Given the description of an element on the screen output the (x, y) to click on. 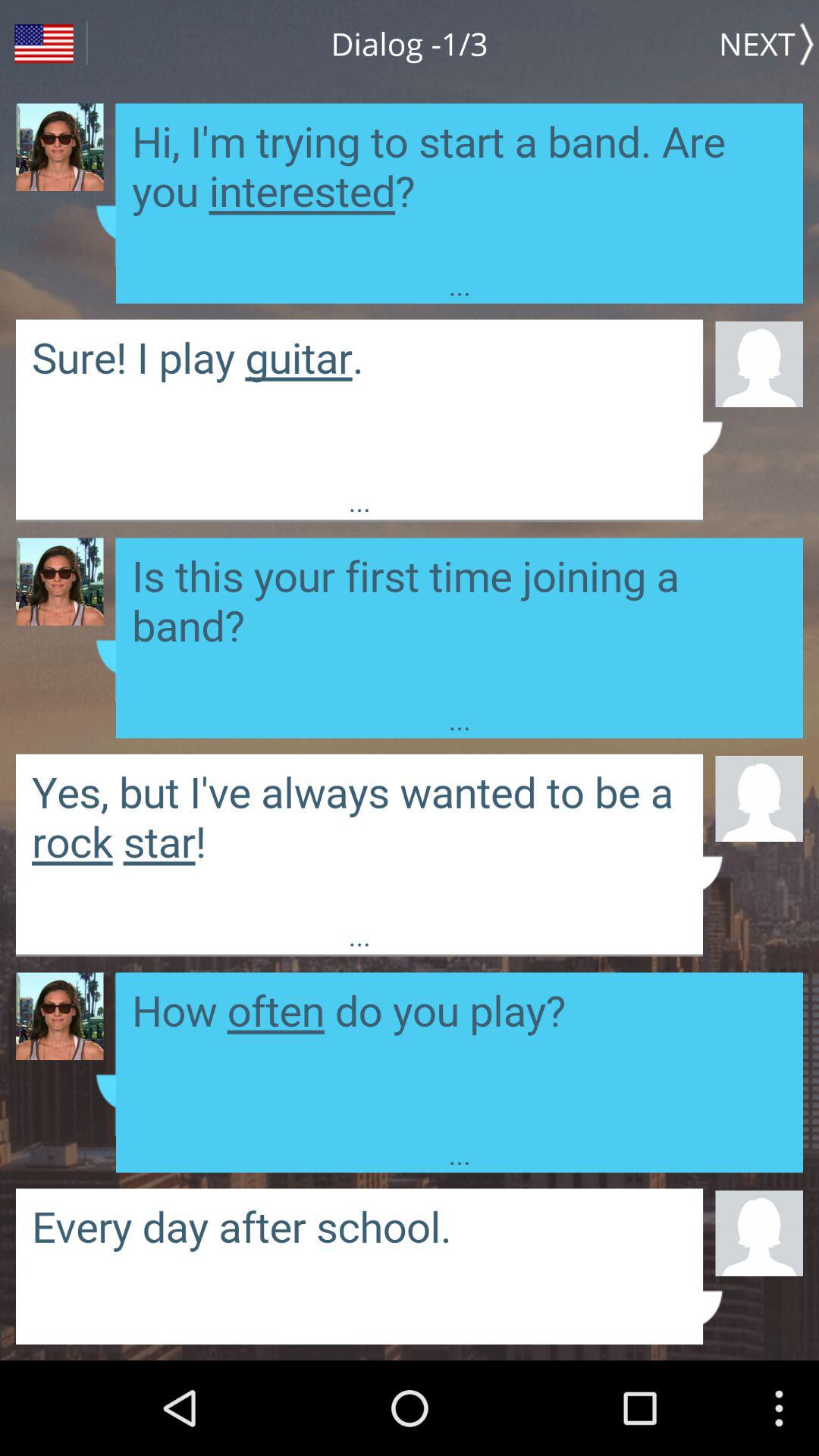
launch item at the bottom right corner (759, 1232)
